Given the description of an element on the screen output the (x, y) to click on. 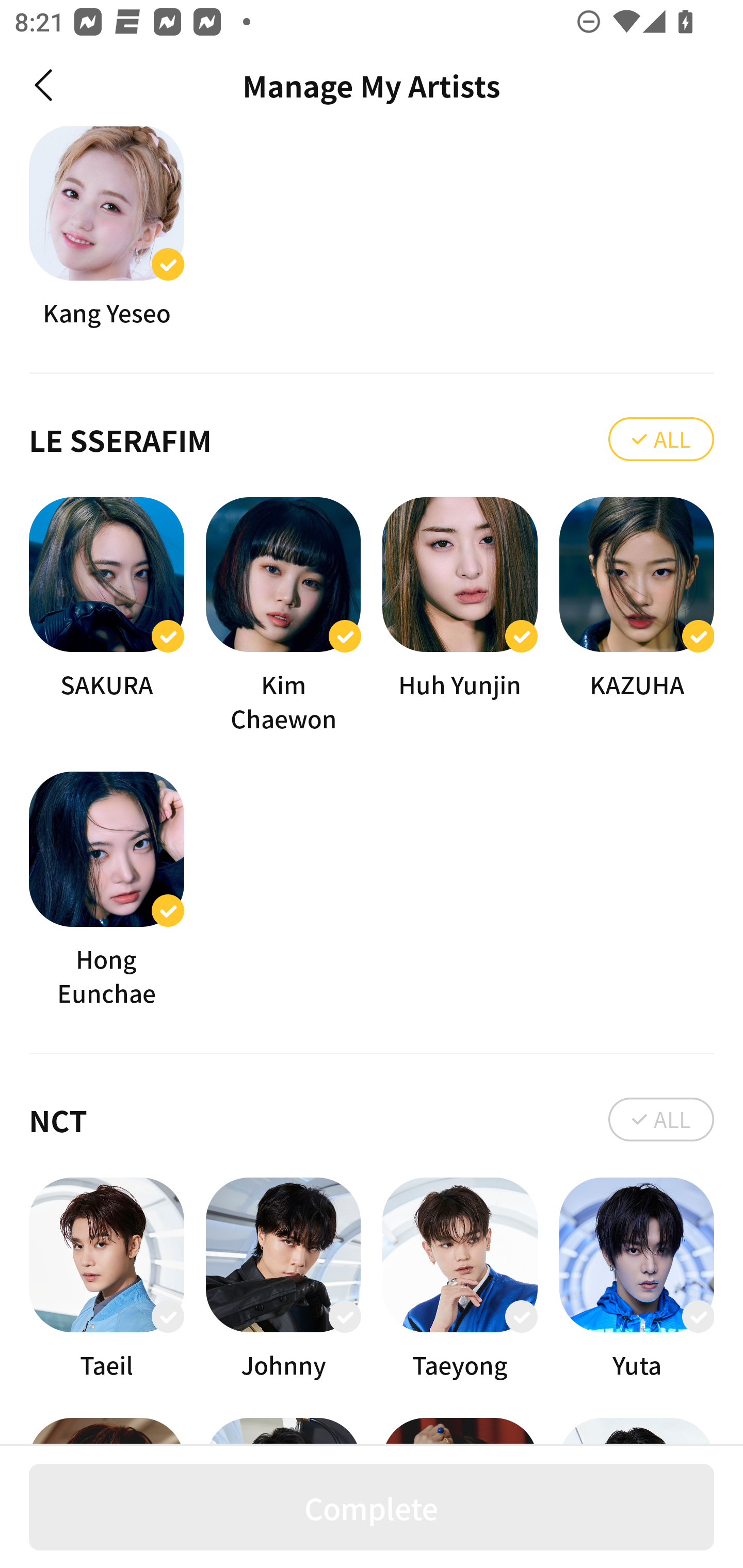
Kang Yeseo (106, 228)
ALL (661, 438)
SAKURA (106, 616)
Kim Chaewon (282, 616)
Huh Yunjin (459, 616)
KAZUHA (636, 616)
Hong Eunchae (106, 890)
ALL (661, 1119)
Taeil (106, 1279)
Johnny (282, 1279)
Taeyong (459, 1279)
Yuta (636, 1279)
Complete (371, 1507)
